Given the description of an element on the screen output the (x, y) to click on. 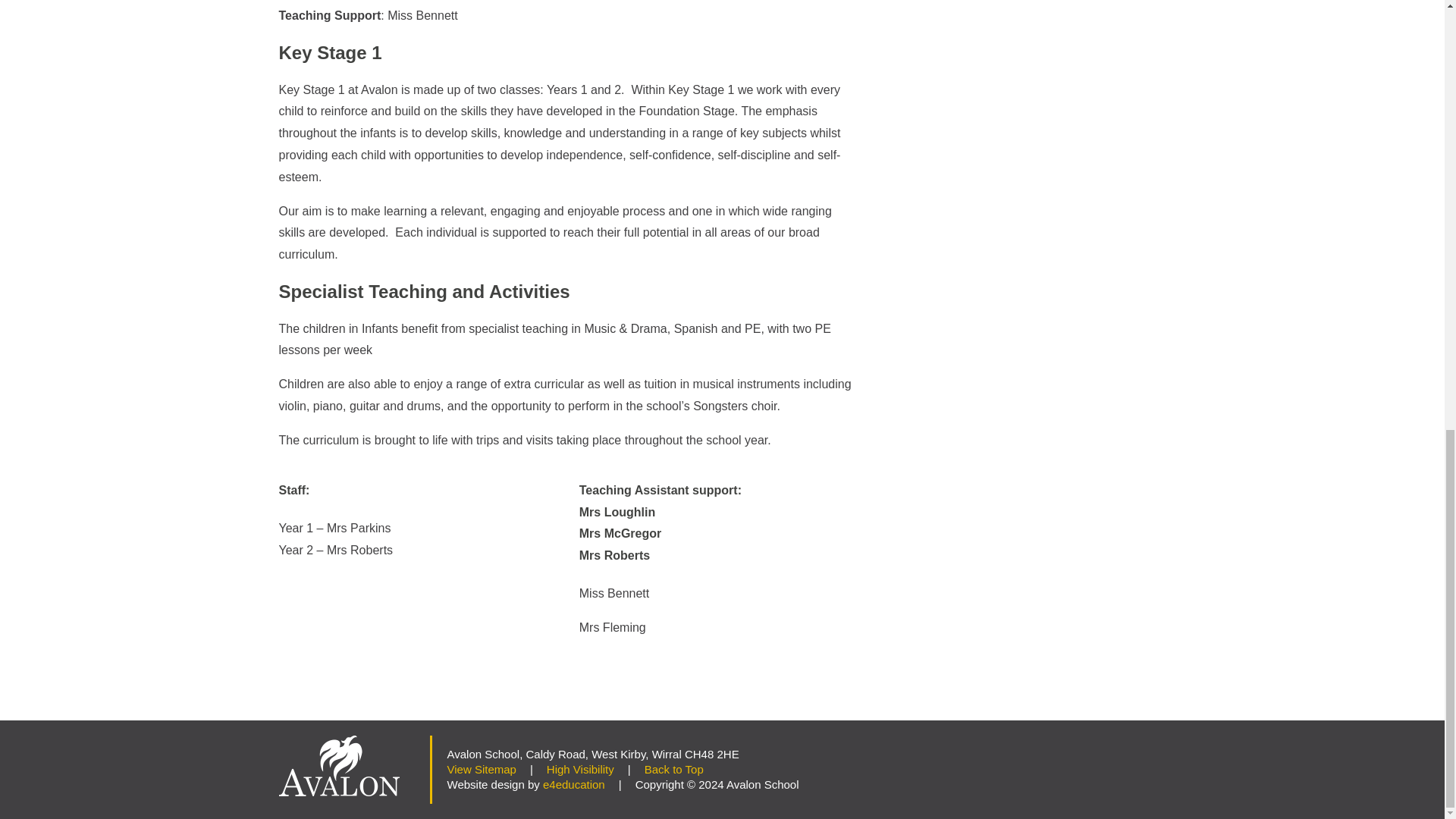
e4education (574, 784)
